Given the description of an element on the screen output the (x, y) to click on. 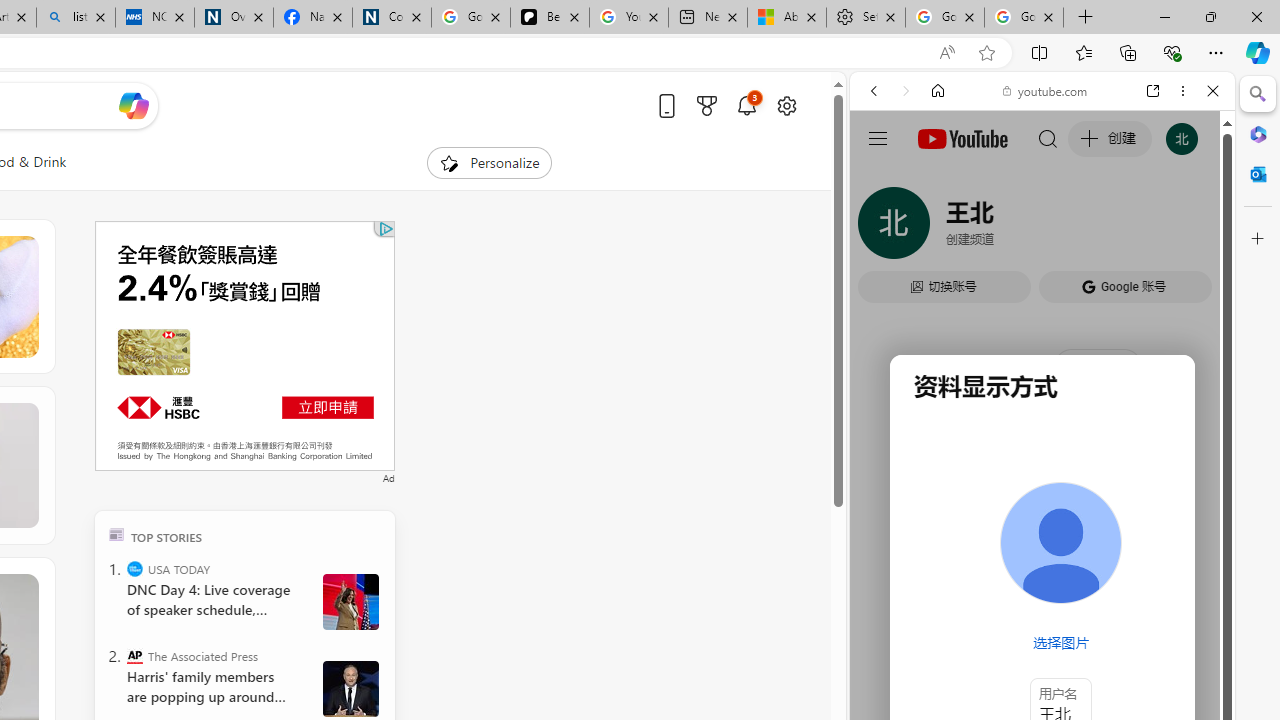
Close Outlook pane (1258, 174)
Be Smart | creating Science videos | Patreon (549, 17)
Forward (906, 91)
Search the web (1051, 137)
Open Copilot (132, 105)
